Given the description of an element on the screen output the (x, y) to click on. 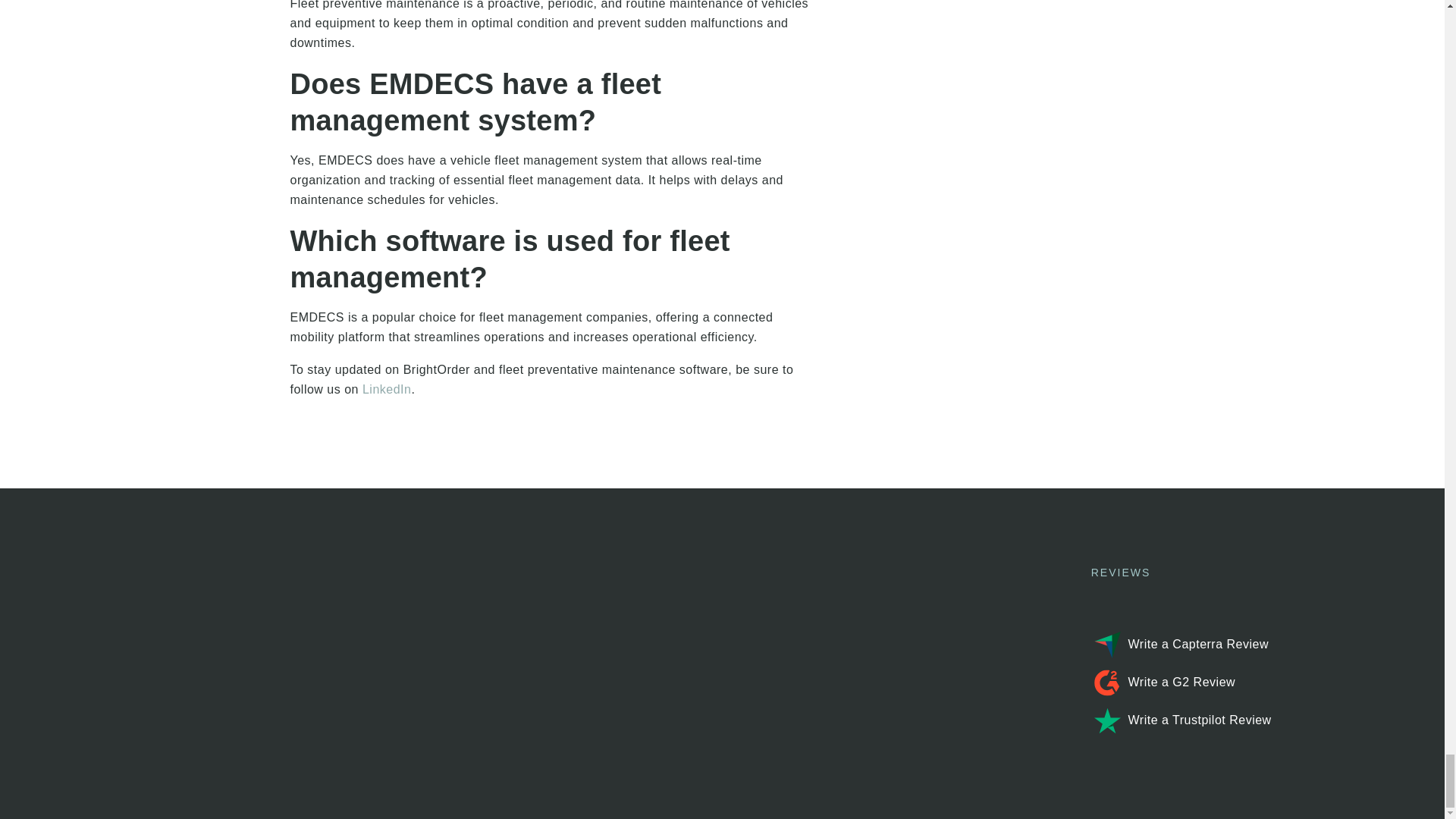
REVIEWS (1238, 572)
LinkedIn (387, 389)
